Given the description of an element on the screen output the (x, y) to click on. 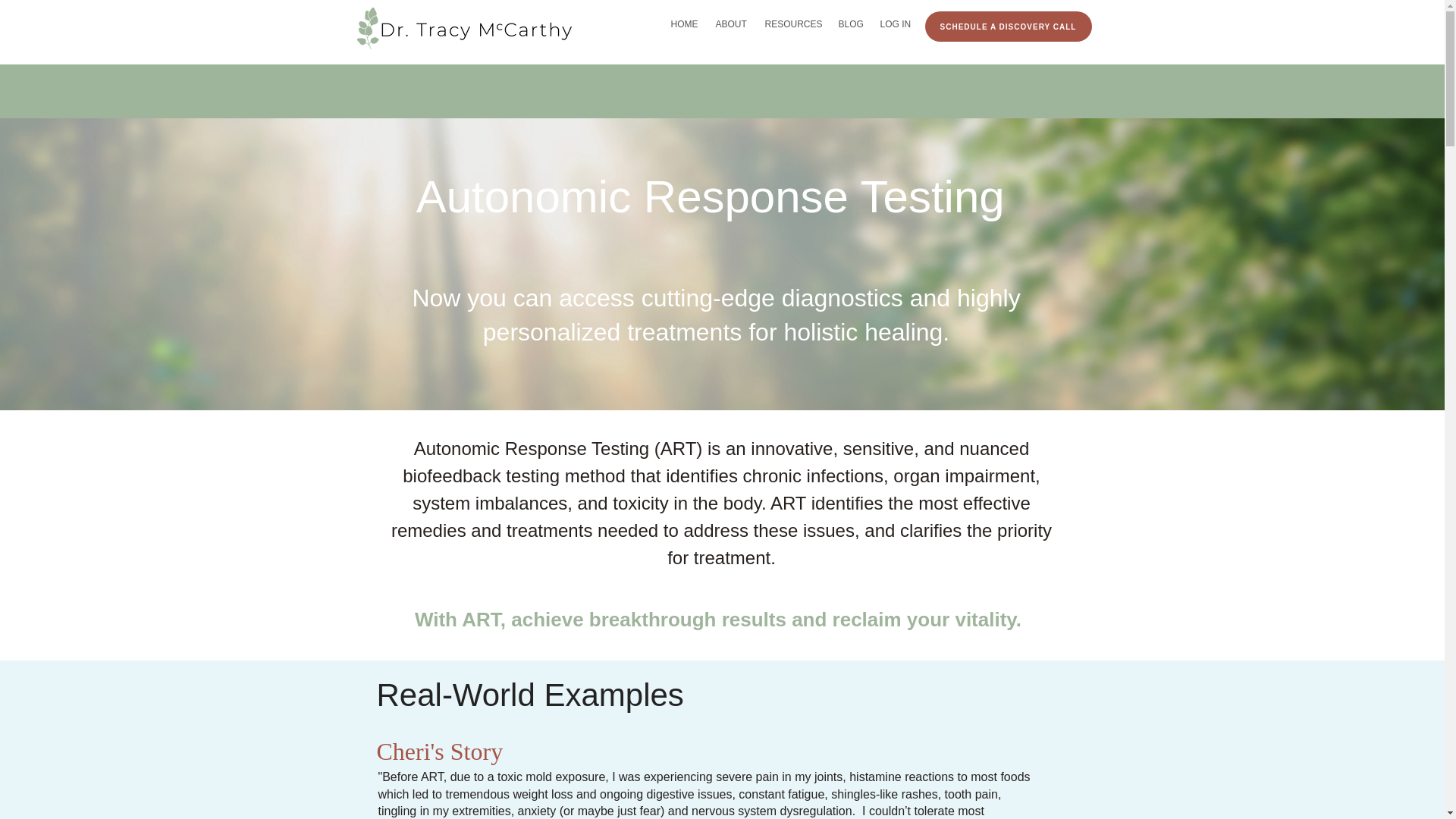
LOG IN (896, 24)
BLOG (851, 24)
SCHEDULE A DISCOVERY CALL (1008, 26)
HOME (684, 24)
